Given the description of an element on the screen output the (x, y) to click on. 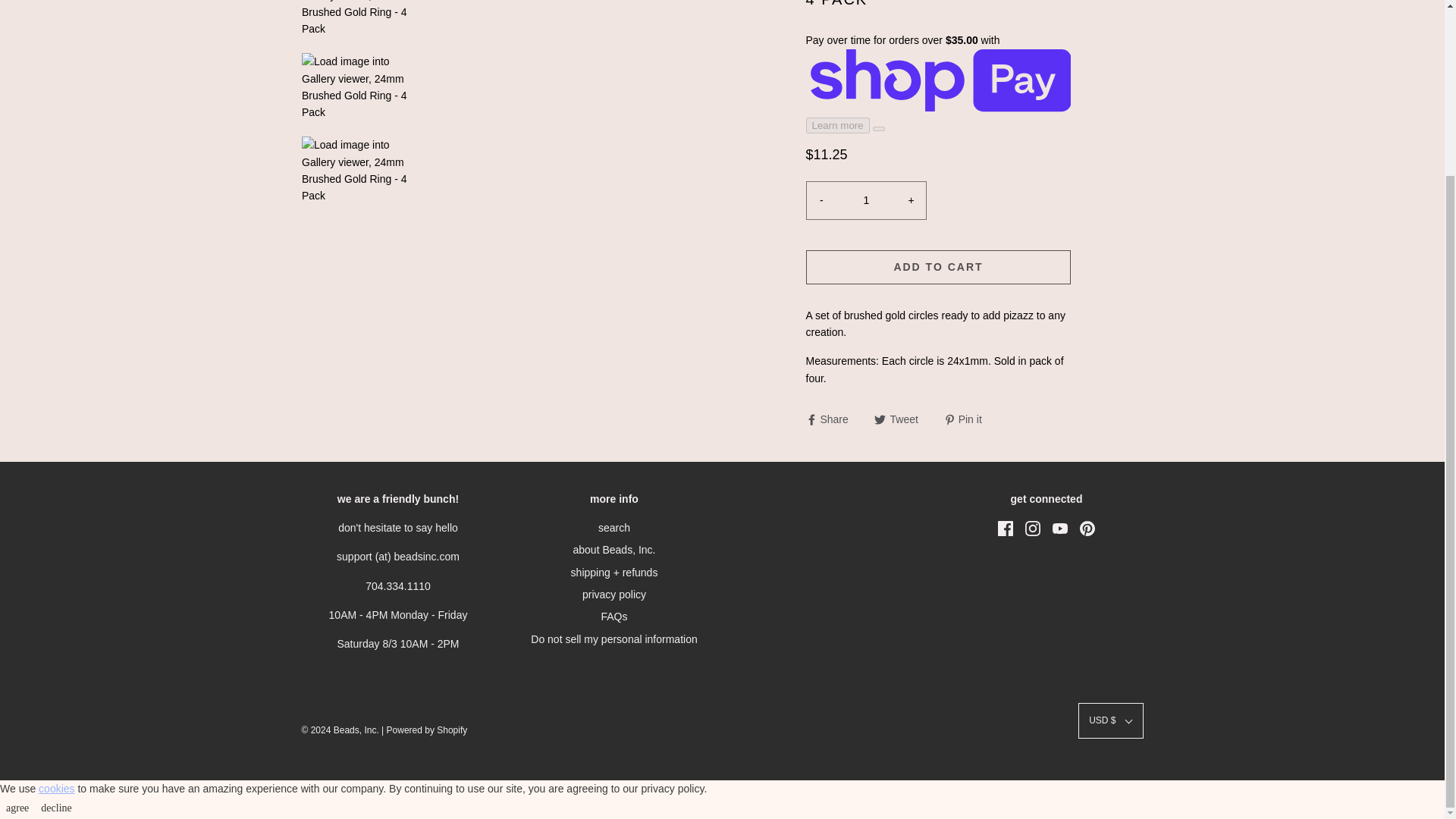
Facebook icon (1005, 528)
Instagram icon (1033, 528)
1 (865, 199)
YouTube icon (1059, 528)
